Given the description of an element on the screen output the (x, y) to click on. 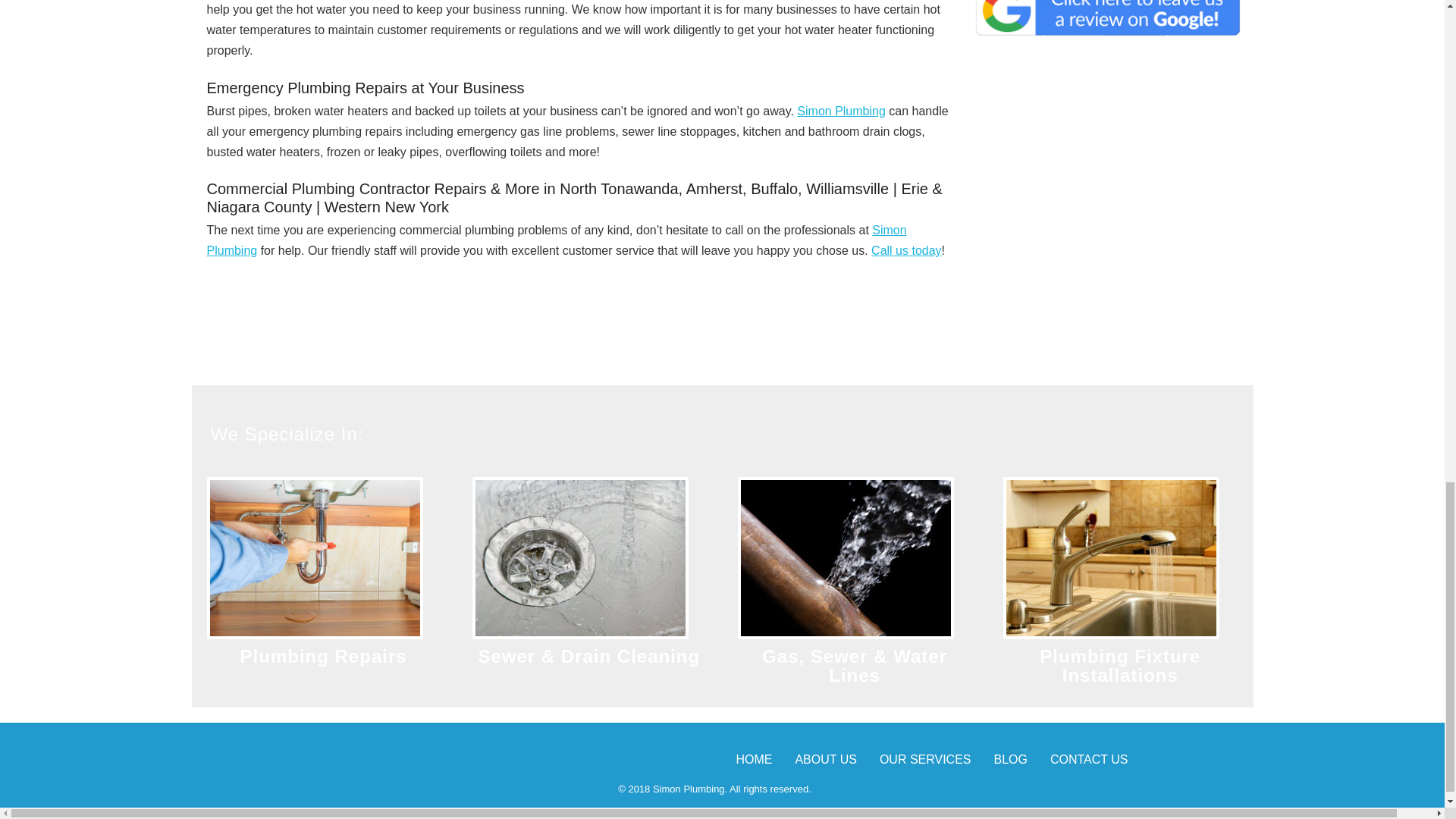
Simon Plumbing (555, 240)
Simon Plumbing (840, 110)
Plumbing Repairs (323, 656)
Call us today (906, 250)
